Given the description of an element on the screen output the (x, y) to click on. 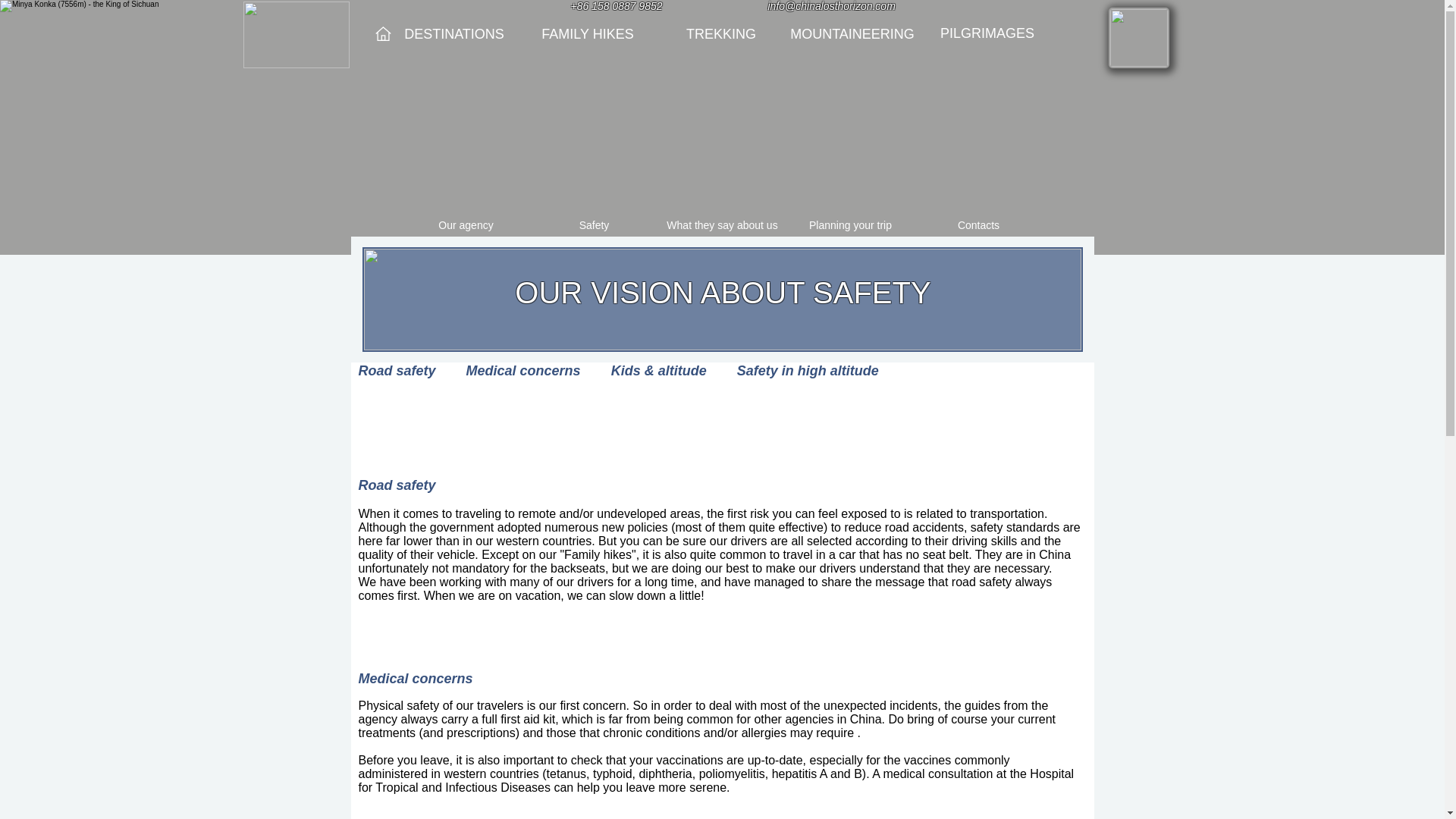
FAMILY HIKES (588, 34)
Contacts (978, 225)
Planning your trip (850, 225)
TREKKING (721, 34)
Safety in high altitude (807, 370)
MOUNTAINEERING (853, 34)
DESTINATIONS (454, 34)
What they say about us (722, 225)
Medical concerns (522, 370)
Road safety (396, 370)
Safety (594, 225)
PILGRIMAGES (987, 33)
Our agency (465, 225)
